Given the description of an element on the screen output the (x, y) to click on. 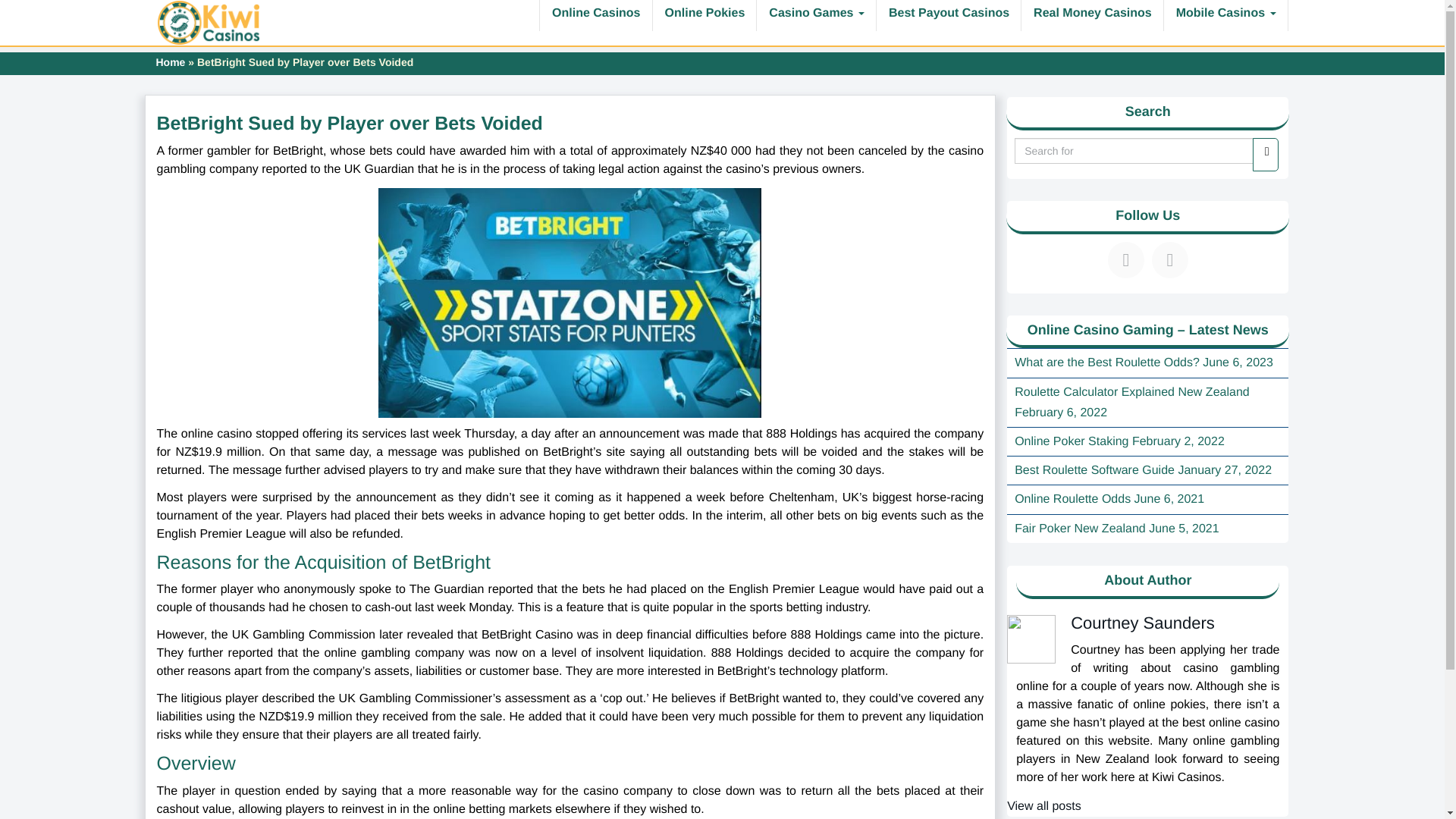
Casino Games (816, 15)
Online Casino New Zealand (208, 22)
Real Money Casinos (1092, 15)
Home (170, 61)
View all posts (1044, 806)
Online Roulette Odds (1072, 499)
Online Poker Staking (1071, 440)
Fair Poker New Zealand (1079, 528)
What are the Best Roulette Odds? (1106, 362)
Roulette Calculator Explained New Zealand (1131, 391)
Best Roulette Software Guide (1094, 470)
Mobile Casinos (1225, 15)
Courtney Saunders (1142, 622)
Online Casinos (595, 15)
Best Payout Casinos (948, 15)
